Given the description of an element on the screen output the (x, y) to click on. 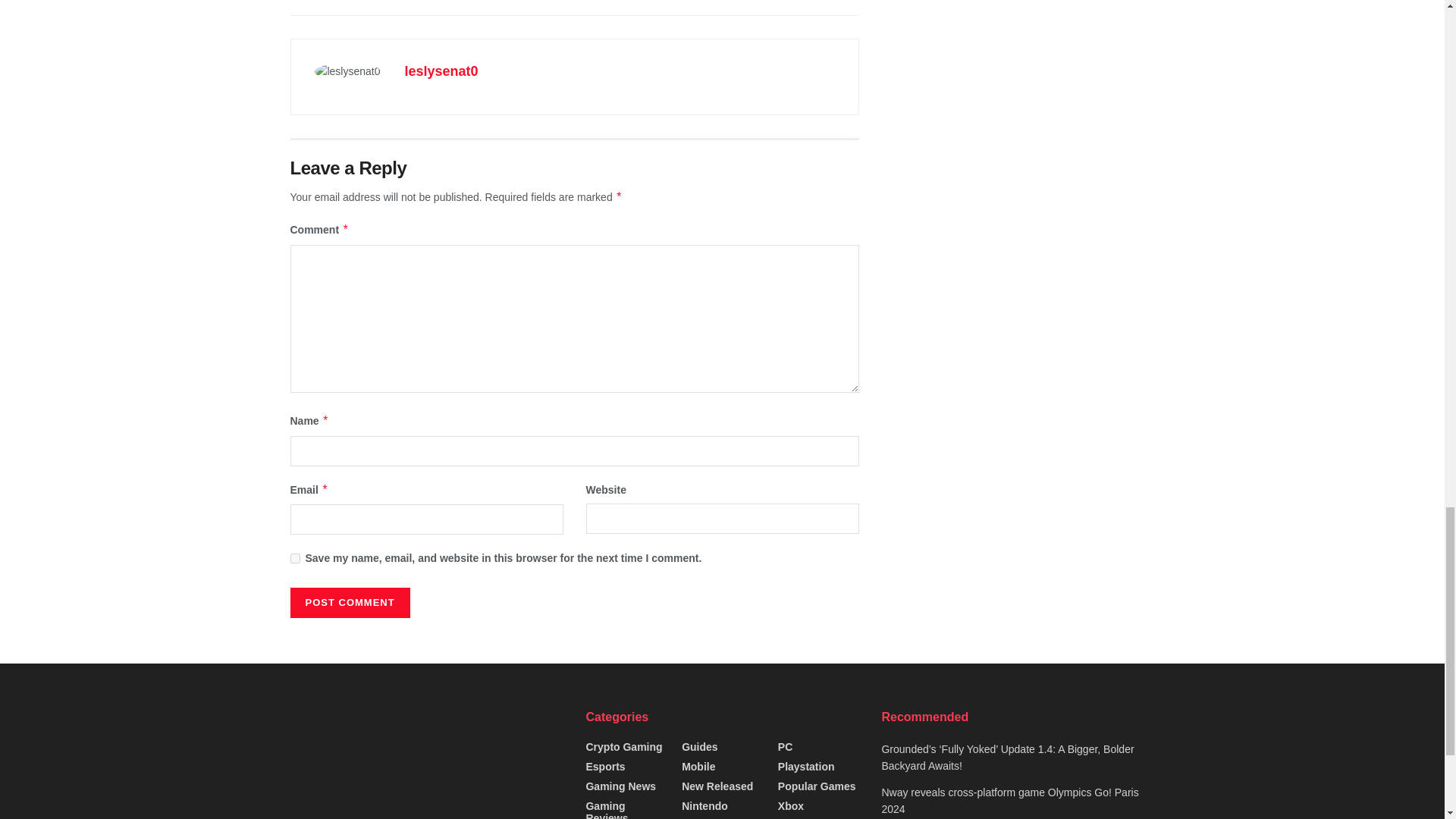
leslysenat0 (441, 70)
Post Comment (349, 603)
yes (294, 558)
